Given the description of an element on the screen output the (x, y) to click on. 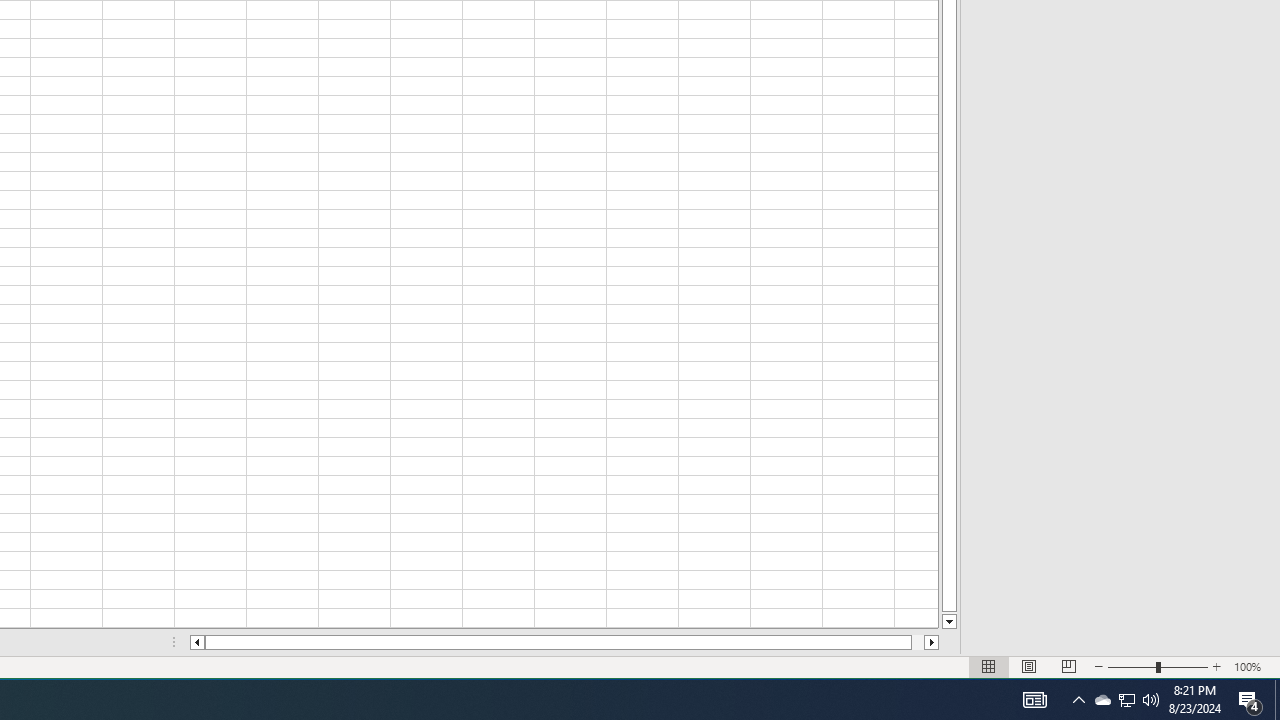
AutomationID: 4105 (1034, 699)
Action Center, 4 new notifications (1250, 699)
